Given the description of an element on the screen output the (x, y) to click on. 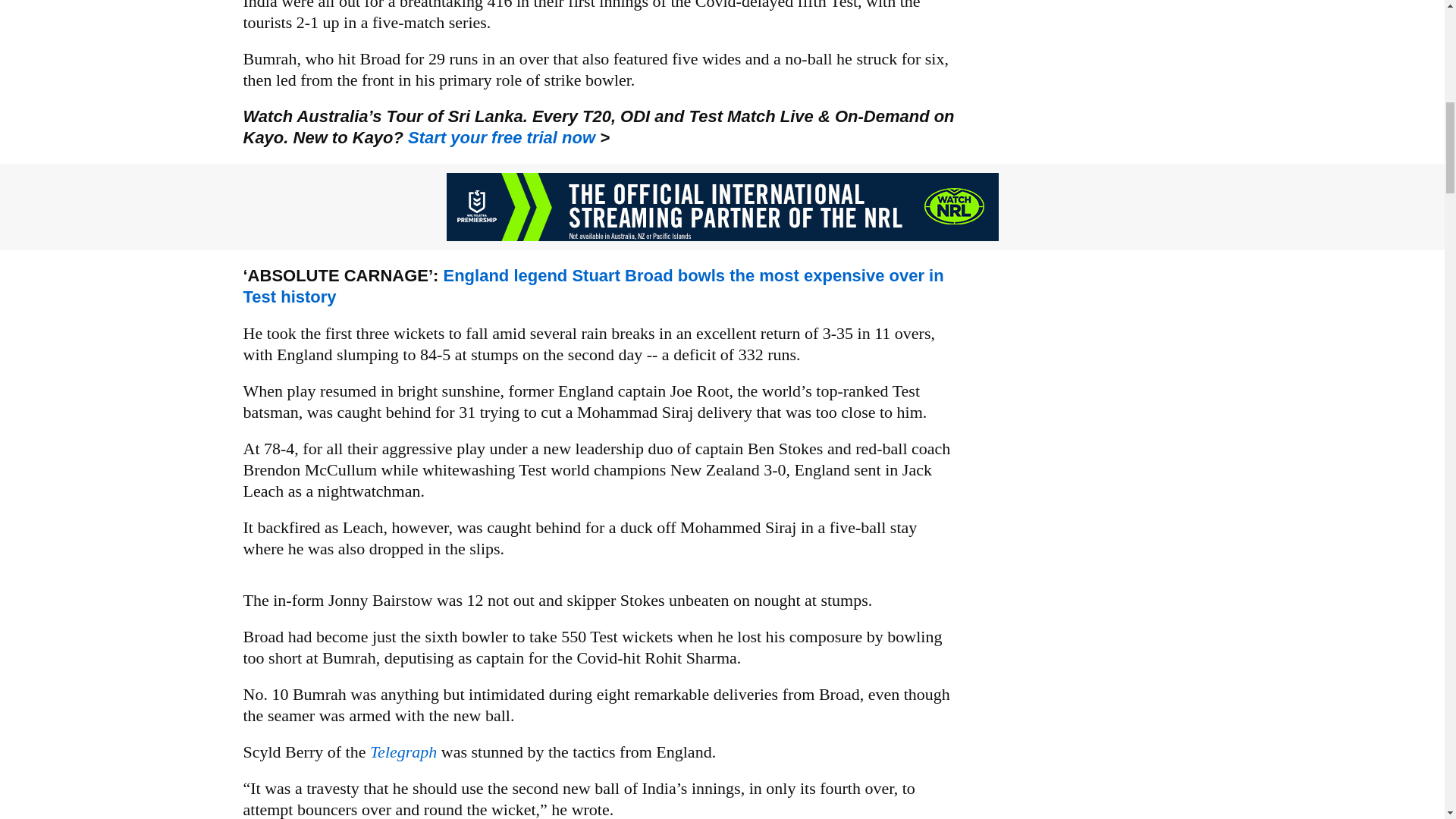
Telegraph (405, 751)
3rd party ad content (721, 206)
Start your free trial now (501, 137)
